Given the description of an element on the screen output the (x, y) to click on. 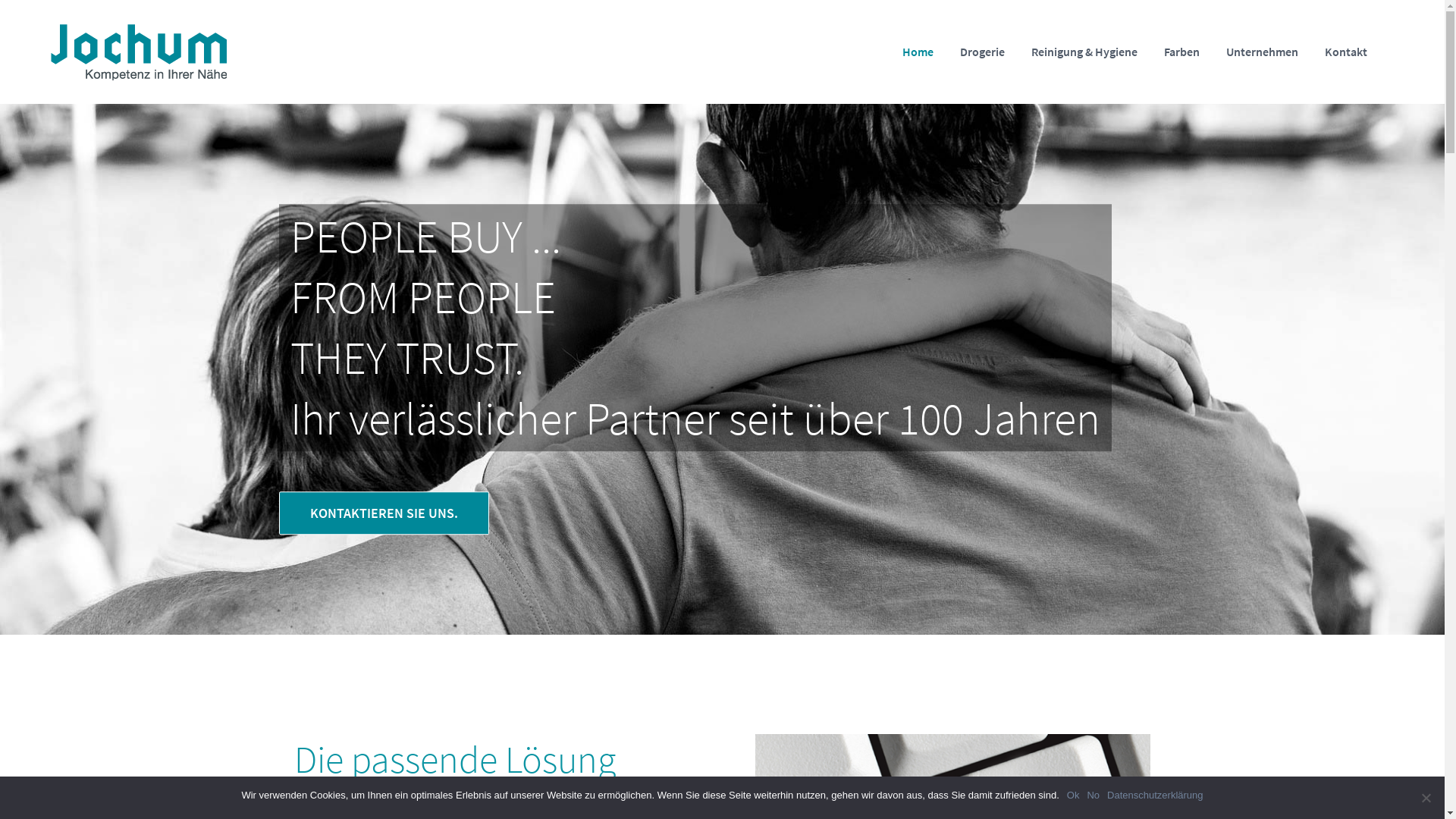
Home Element type: text (917, 51)
No Element type: text (1092, 795)
No Element type: hover (1425, 797)
Kontakt Element type: text (1345, 51)
Unternehmen Element type: text (1262, 51)
Farben Element type: text (1181, 51)
Reinigung & Hygiene Element type: text (1084, 51)
Ok Element type: text (1072, 795)
Drogerie Element type: text (982, 51)
KONTAKTIEREN SIE UNS. Element type: text (384, 512)
